Given the description of an element on the screen output the (x, y) to click on. 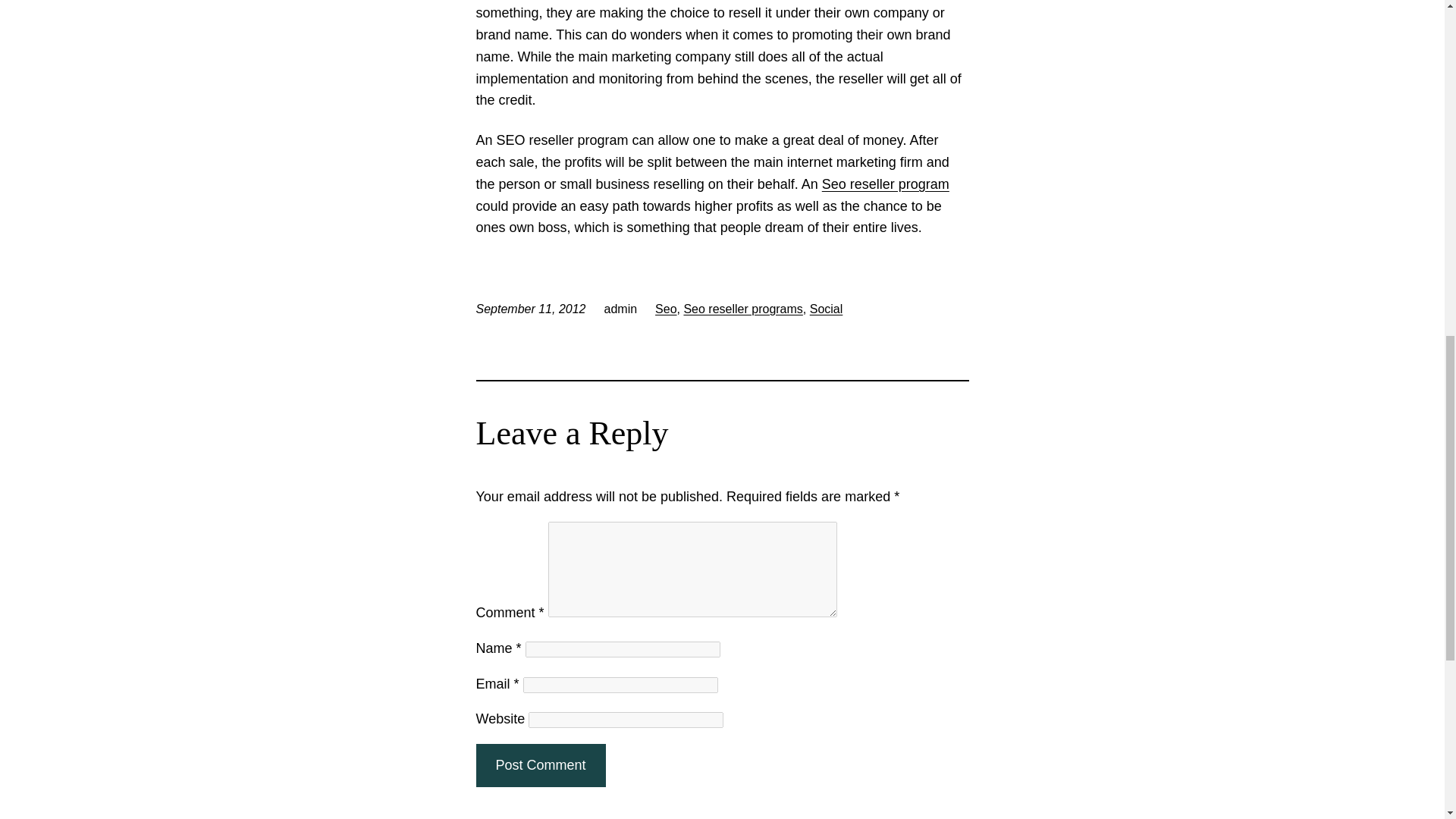
Seo programs (885, 183)
Seo (666, 308)
Social (826, 308)
Post Comment (540, 765)
Post Comment (540, 765)
Seo reseller programs (742, 308)
Seo reseller program (885, 183)
